Given the description of an element on the screen output the (x, y) to click on. 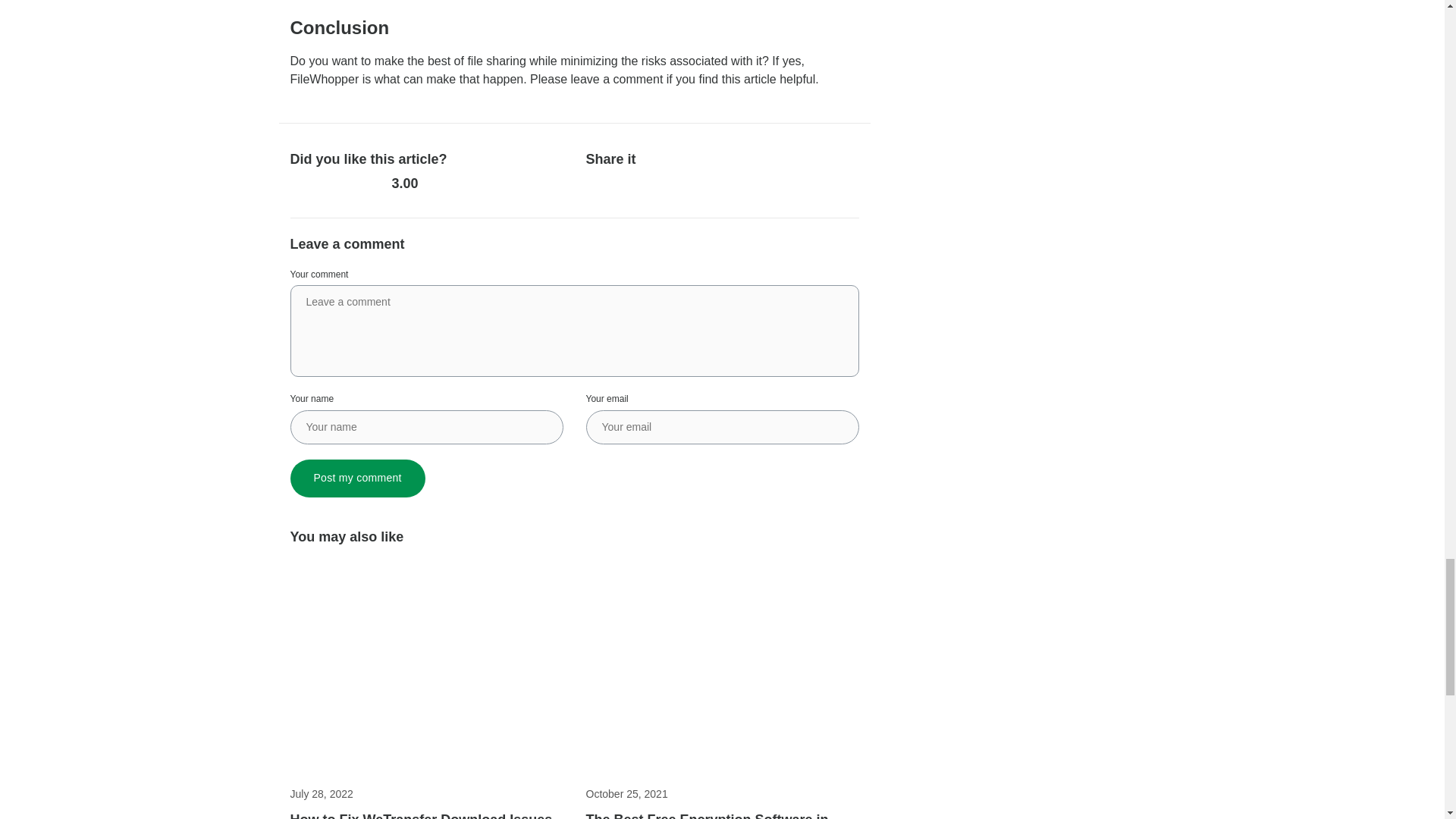
How to Fix WeTransfer Download Issues (425, 814)
Post my comment (357, 478)
The Best Free Encryption Software in 2021 (722, 814)
The Best Free Encryption Software in 2021 (722, 814)
How to Fix WeTransfer Download Issues (425, 814)
